Given the description of an element on the screen output the (x, y) to click on. 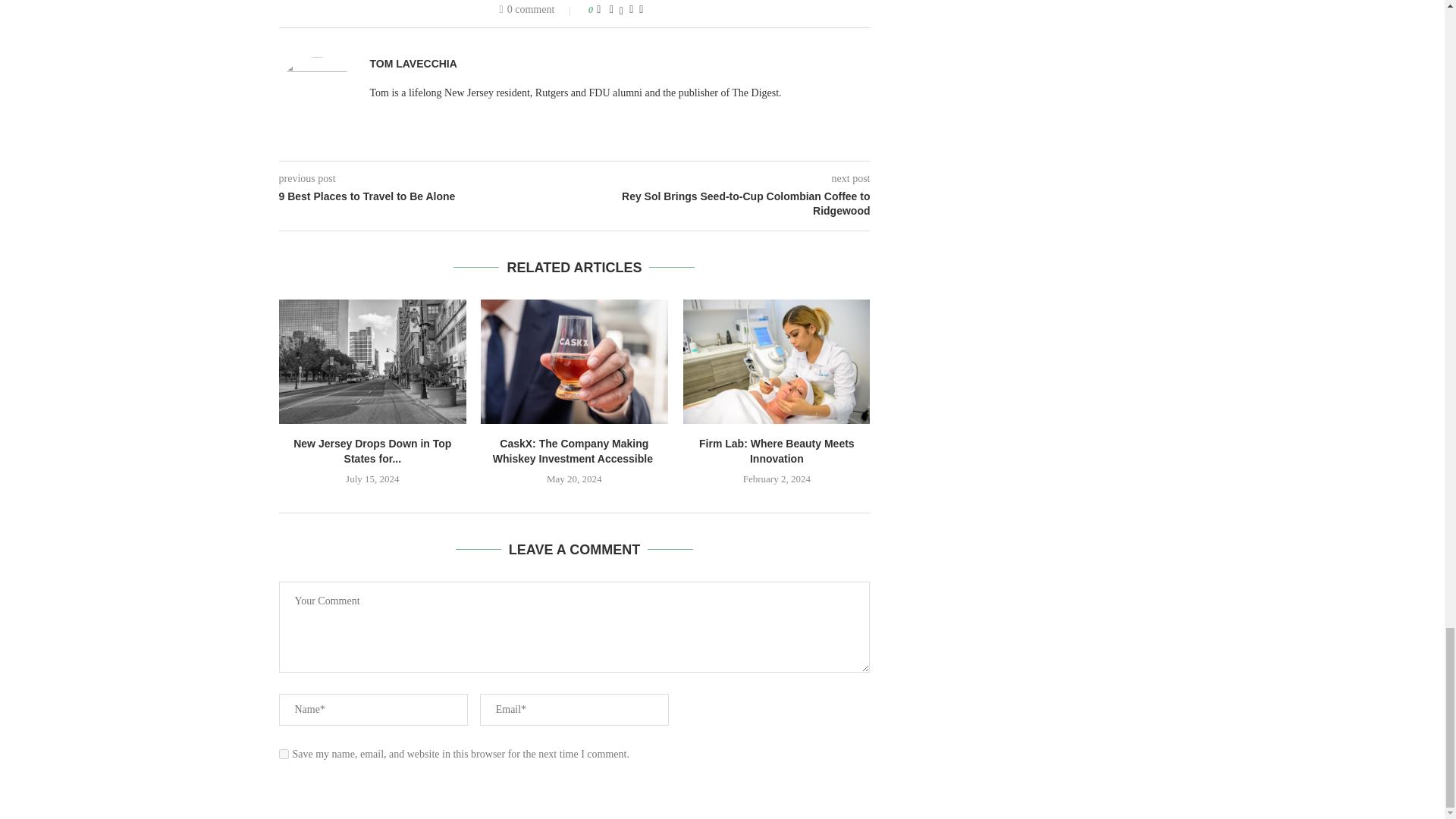
Firm Lab: Where Beauty Meets Innovation (776, 361)
yes (283, 754)
Author Tom Lavecchia (413, 63)
